Given the description of an element on the screen output the (x, y) to click on. 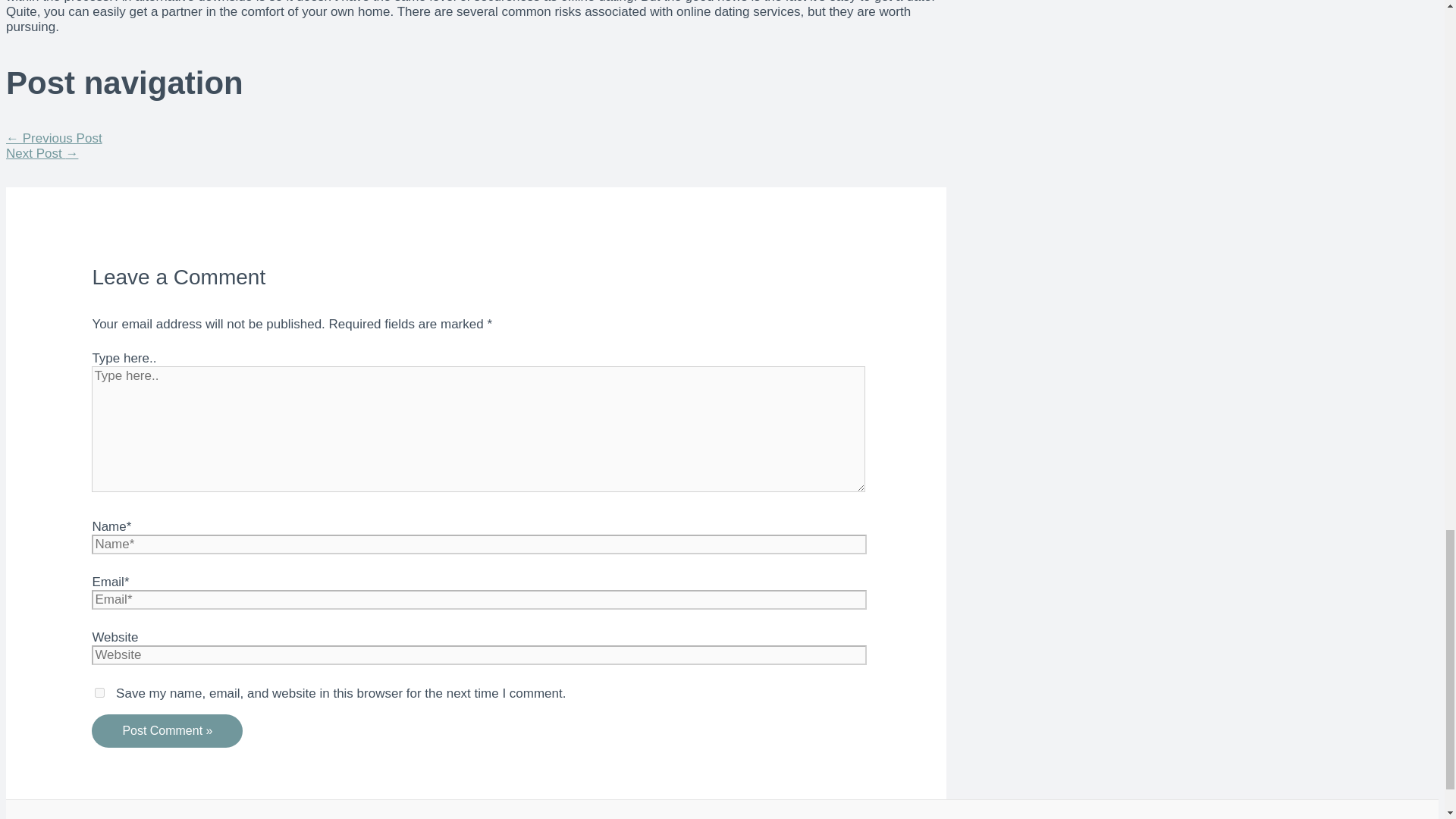
yes (99, 692)
